Given the description of an element on the screen output the (x, y) to click on. 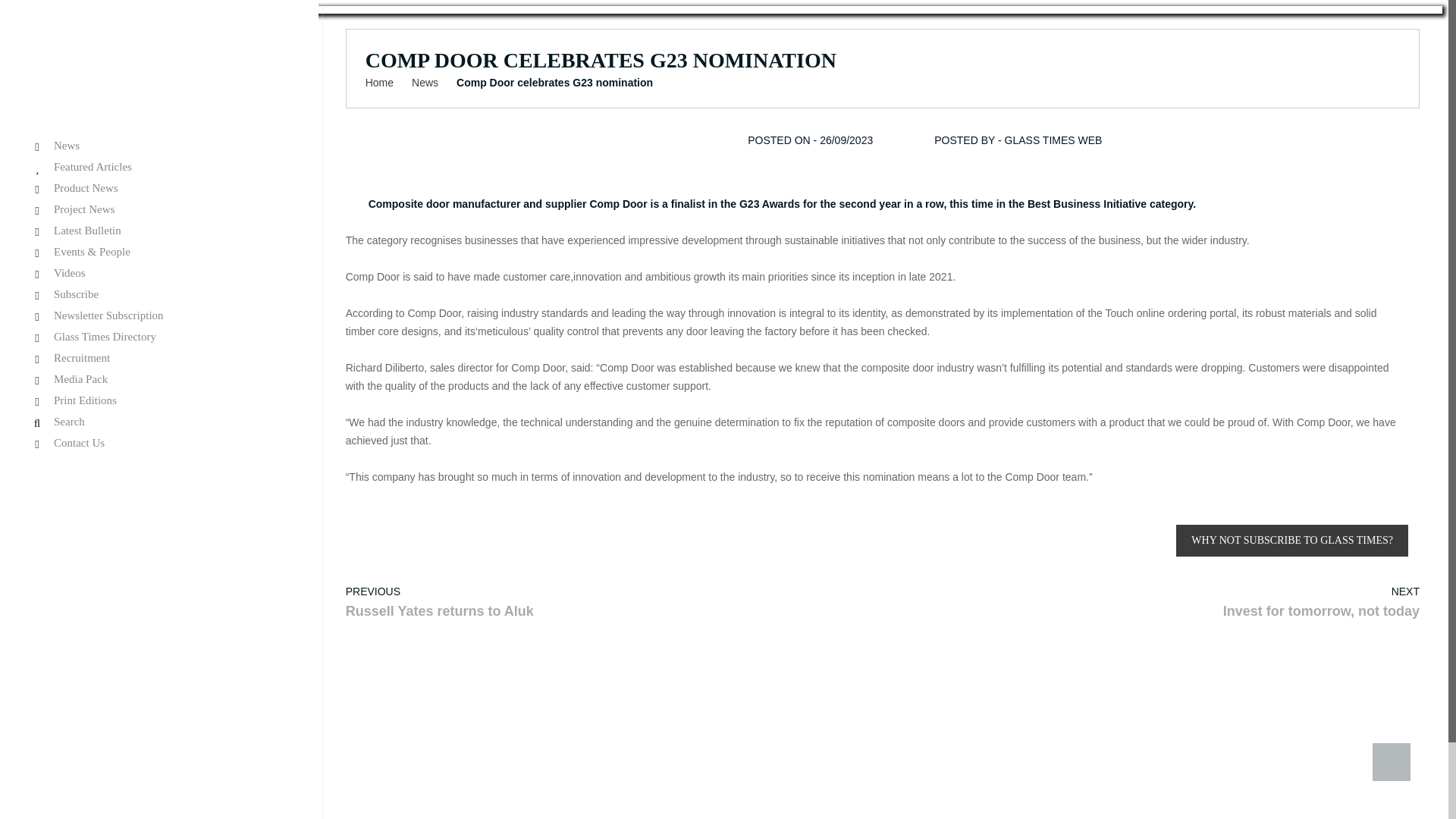
Product News (159, 187)
Latest Bulletin (159, 230)
Media Pack (159, 379)
Print Editions (159, 400)
Featured Articles (159, 166)
Subscribe (159, 294)
Newsletter Subscription (159, 315)
Contact Us (159, 442)
Glass Times - The industrys leading trade journal (112, 73)
News (159, 145)
